Given the description of an element on the screen output the (x, y) to click on. 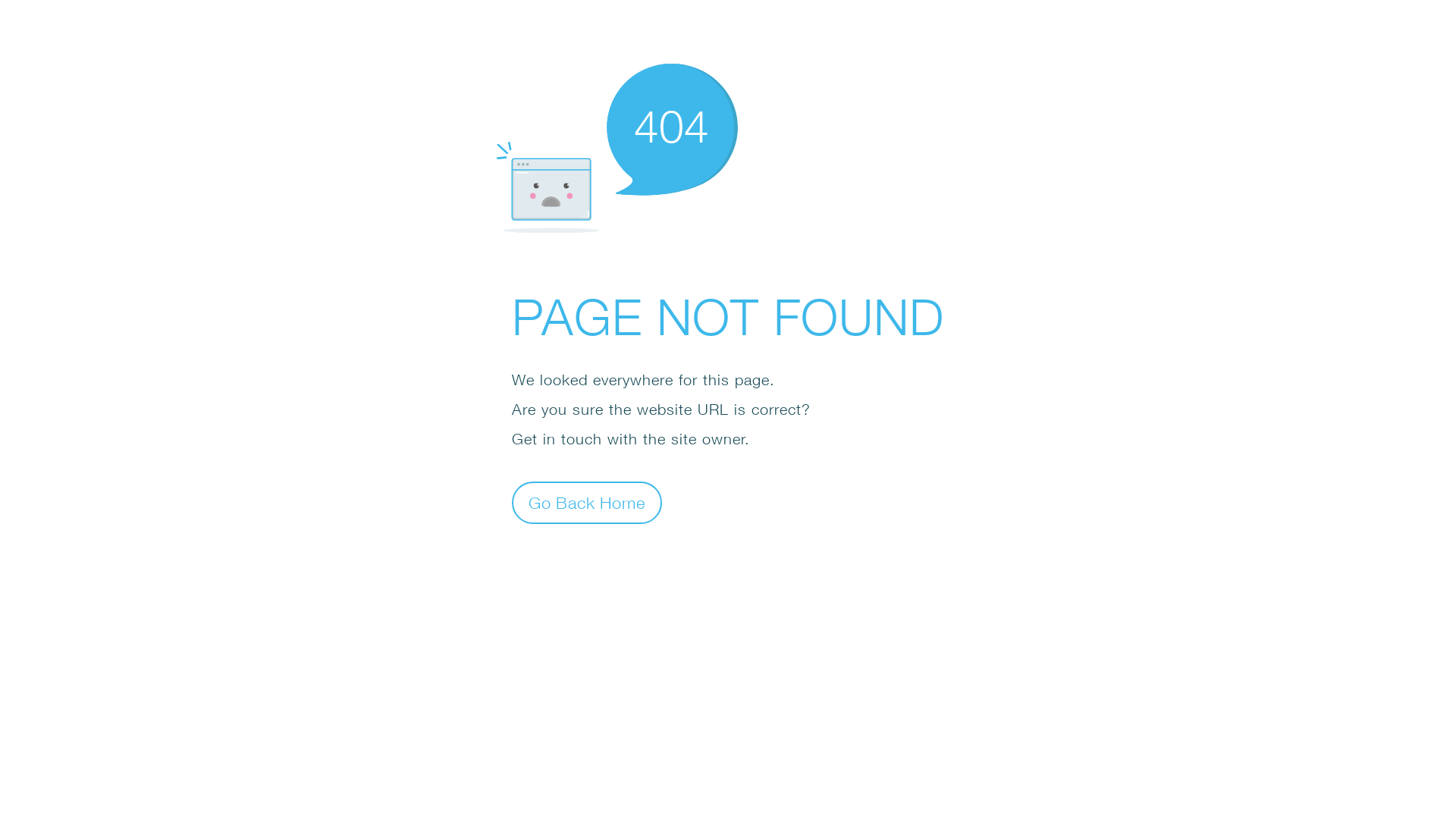
Go Back Home Element type: text (586, 502)
